Given the description of an element on the screen output the (x, y) to click on. 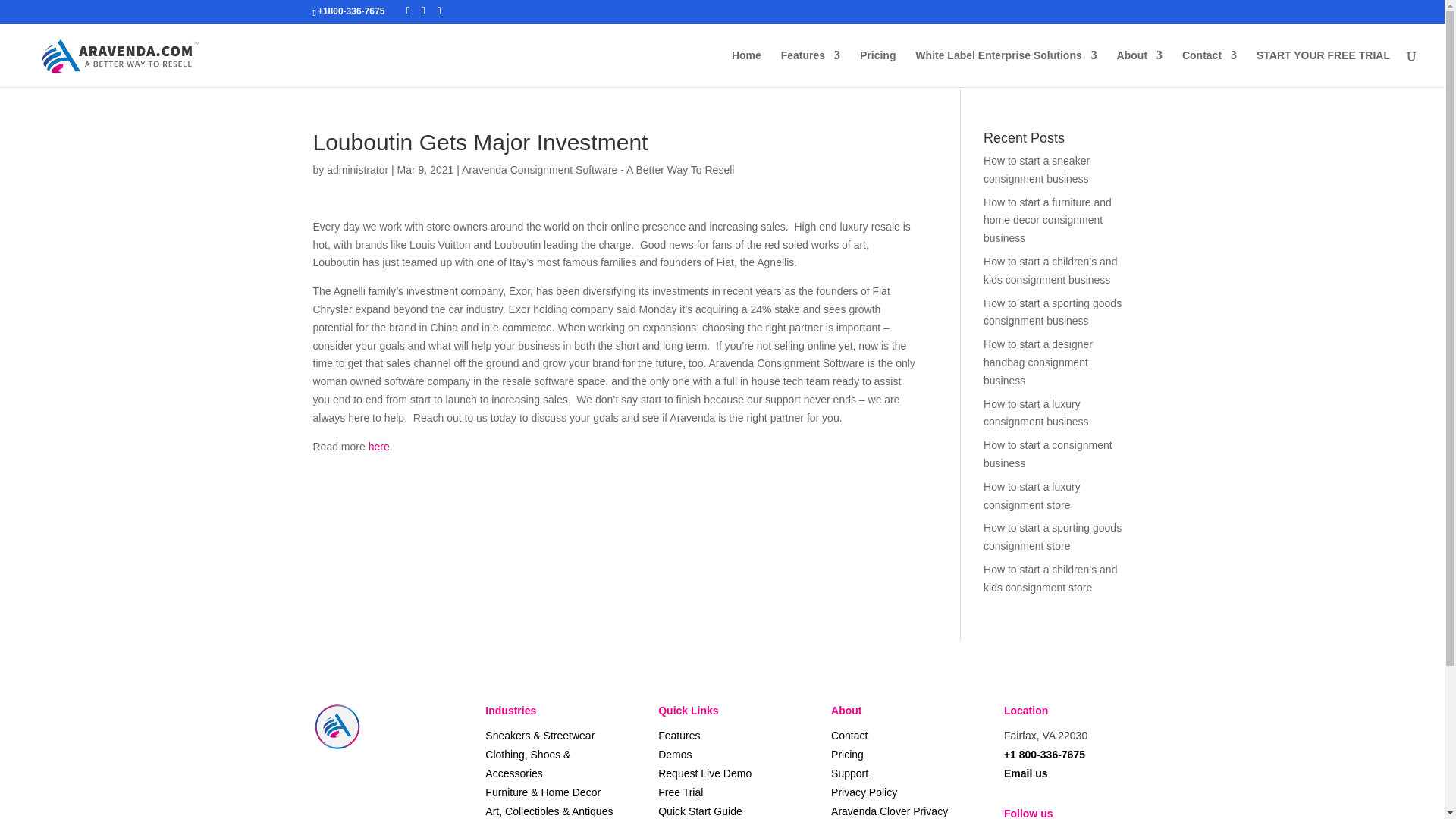
Posts by administrator (357, 169)
Pricing (877, 67)
START YOUR FREE TRIAL (1323, 67)
Contact (1209, 67)
Aravenda Logo (337, 726)
White Label Enterprise Solutions (1005, 67)
About (1138, 67)
Features (810, 67)
